Given the description of an element on the screen output the (x, y) to click on. 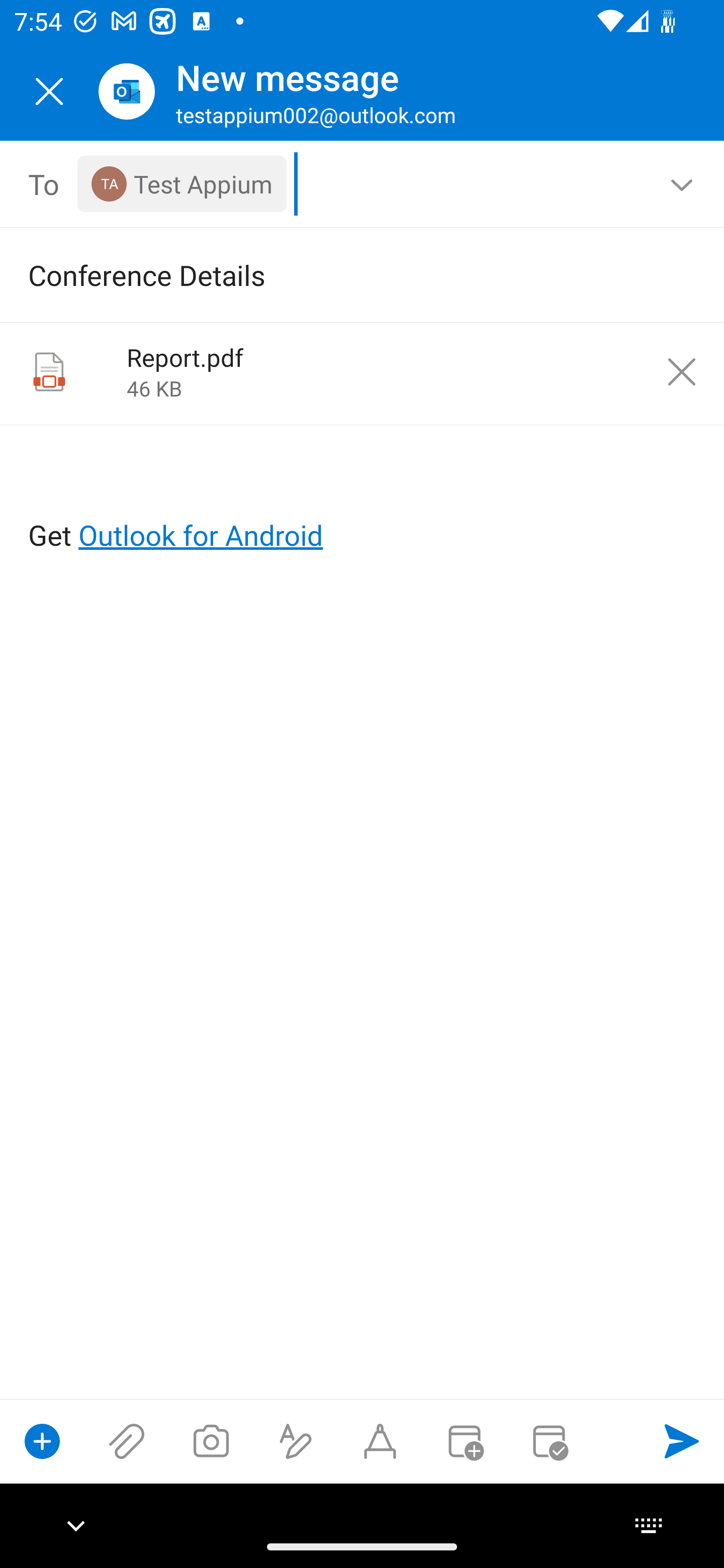
Close (49, 91)
Conference Details (333, 274)
Report.pdf 46 KB Remove attachment Report.pdf (362, 373)
Remove attachment Report.pdf (681, 372)


Get Outlook for Android (363, 502)
Show compose options (42, 1440)
Attach files (126, 1440)
Take a photo (210, 1440)
Show formatting options (295, 1440)
Start Ink compose (380, 1440)
Convert to event (464, 1440)
Send availability (548, 1440)
Send (681, 1440)
